Given the description of an element on the screen output the (x, y) to click on. 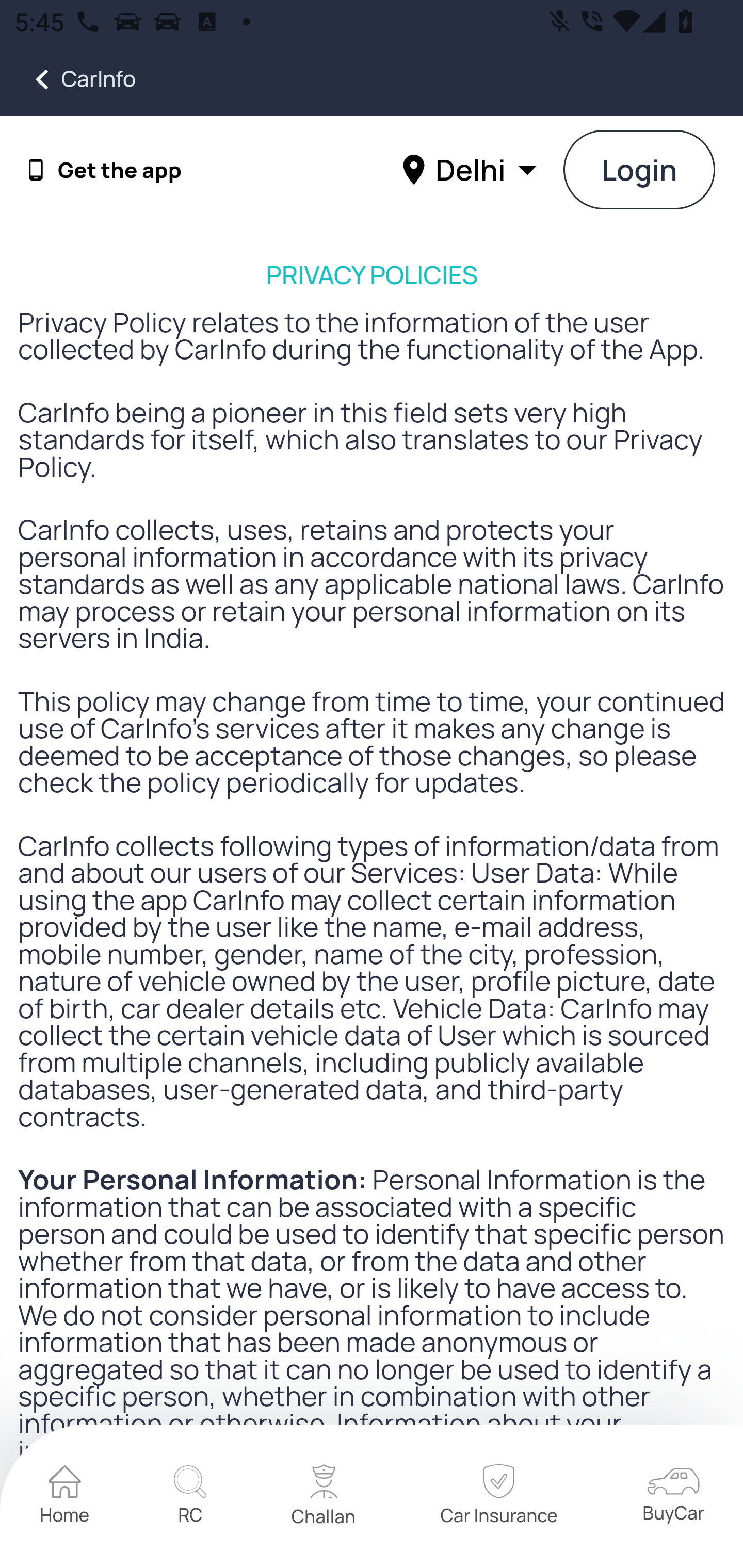
CarInfo (67, 79)
Login (639, 170)
Delhi (471, 169)
Get the app (119, 170)
home Challan home Challan (323, 1496)
home Home home Home (64, 1496)
home RC home RC (190, 1496)
home Car Insurance home Car Insurance (497, 1497)
home BuyCar home BuyCar (672, 1496)
